Given the description of an element on the screen output the (x, y) to click on. 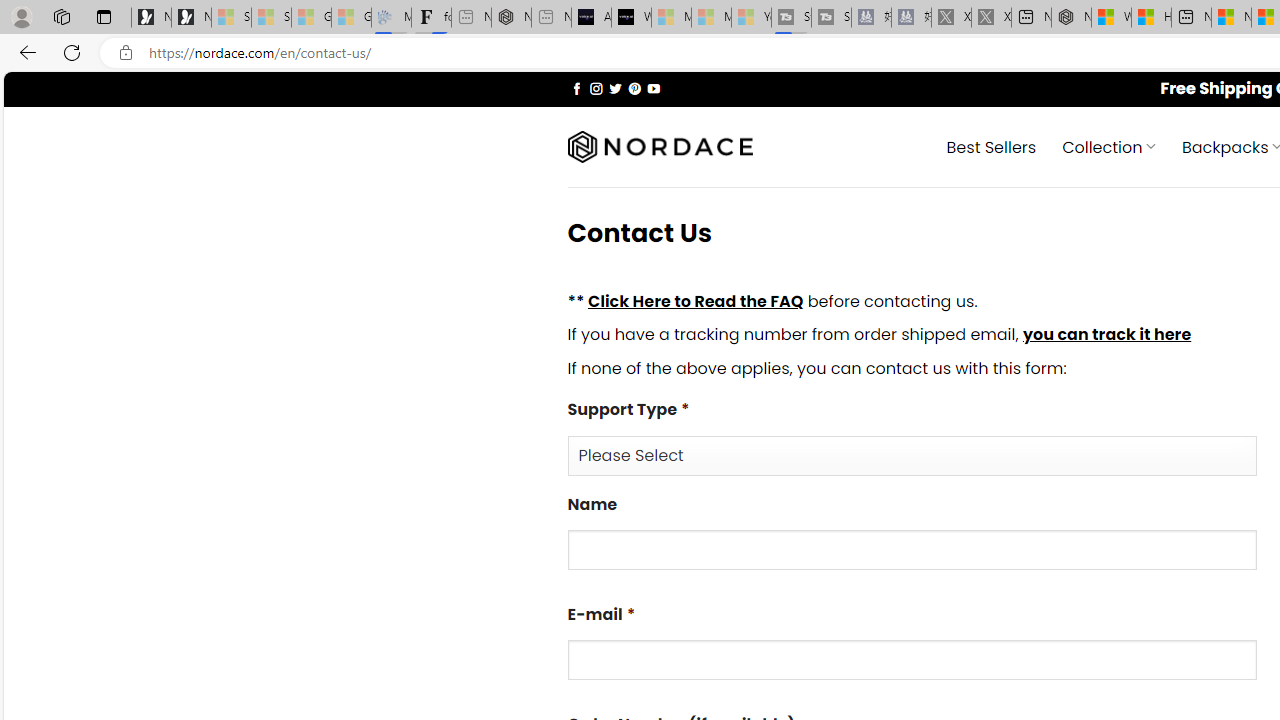
Workspaces (61, 16)
Personal Profile (21, 16)
E-mail* (911, 660)
Microsoft Start Sports - Sleeping (671, 17)
Name (911, 549)
Refresh (72, 52)
Streaming Coverage | T3 - Sleeping (791, 17)
AI Voice Changer for PC and Mac - Voice.ai (591, 17)
Huge shark washes ashore at New York City beach | Watch (1151, 17)
Support Type* (911, 454)
 Best Sellers (990, 146)
Follow on Instagram (596, 88)
